Given the description of an element on the screen output the (x, y) to click on. 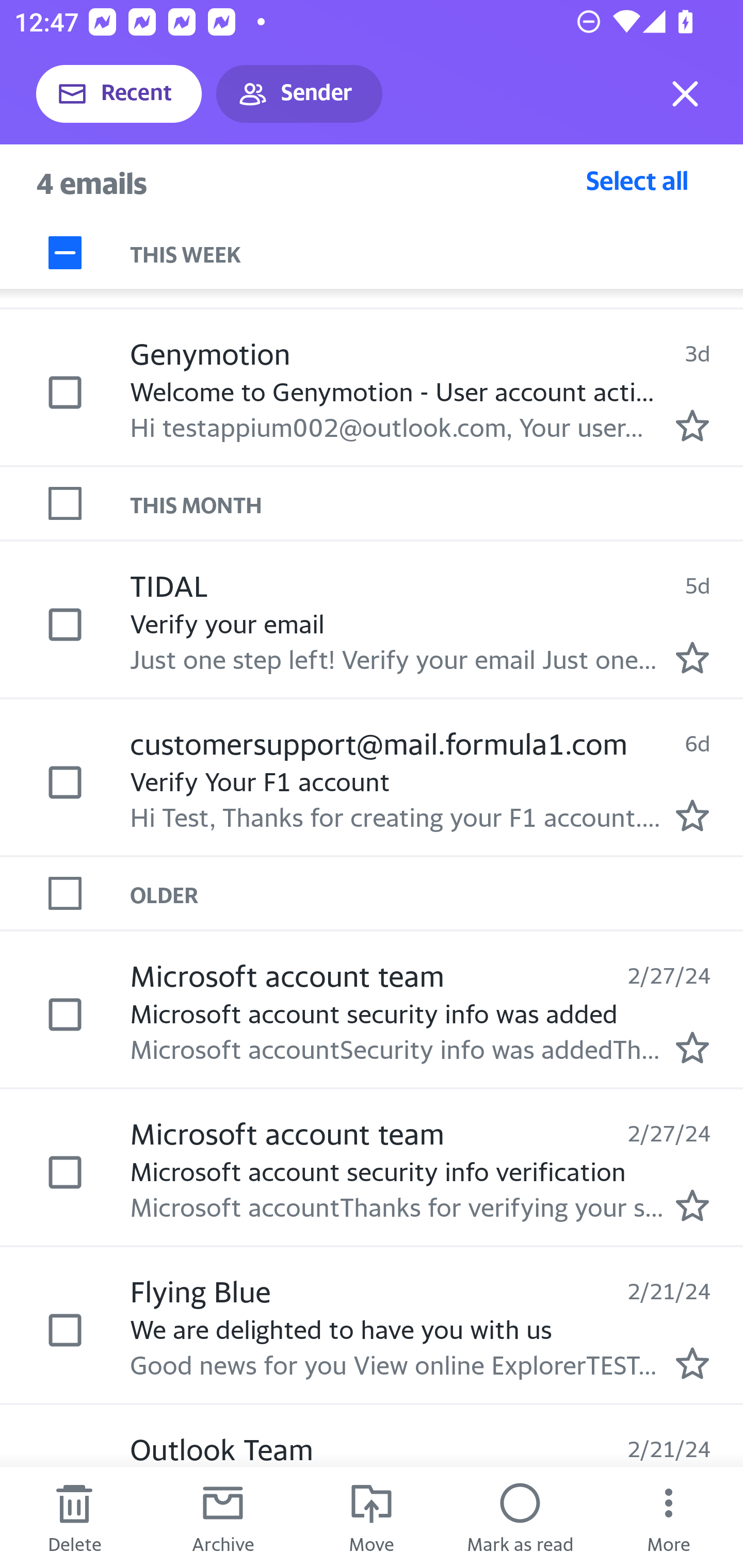
Sender (299, 93)
Exit selection mode (684, 93)
Select all (637, 180)
Mark as starred. (692, 425)
THIS MONTH (436, 503)
Mark as starred. (692, 657)
Mark as starred. (692, 816)
OLDER (436, 892)
Mark as starred. (692, 1048)
Mark as starred. (692, 1204)
Mark as starred. (692, 1363)
Delete (74, 1517)
Archive (222, 1517)
Move (371, 1517)
Mark as read (519, 1517)
More (668, 1517)
